Given the description of an element on the screen output the (x, y) to click on. 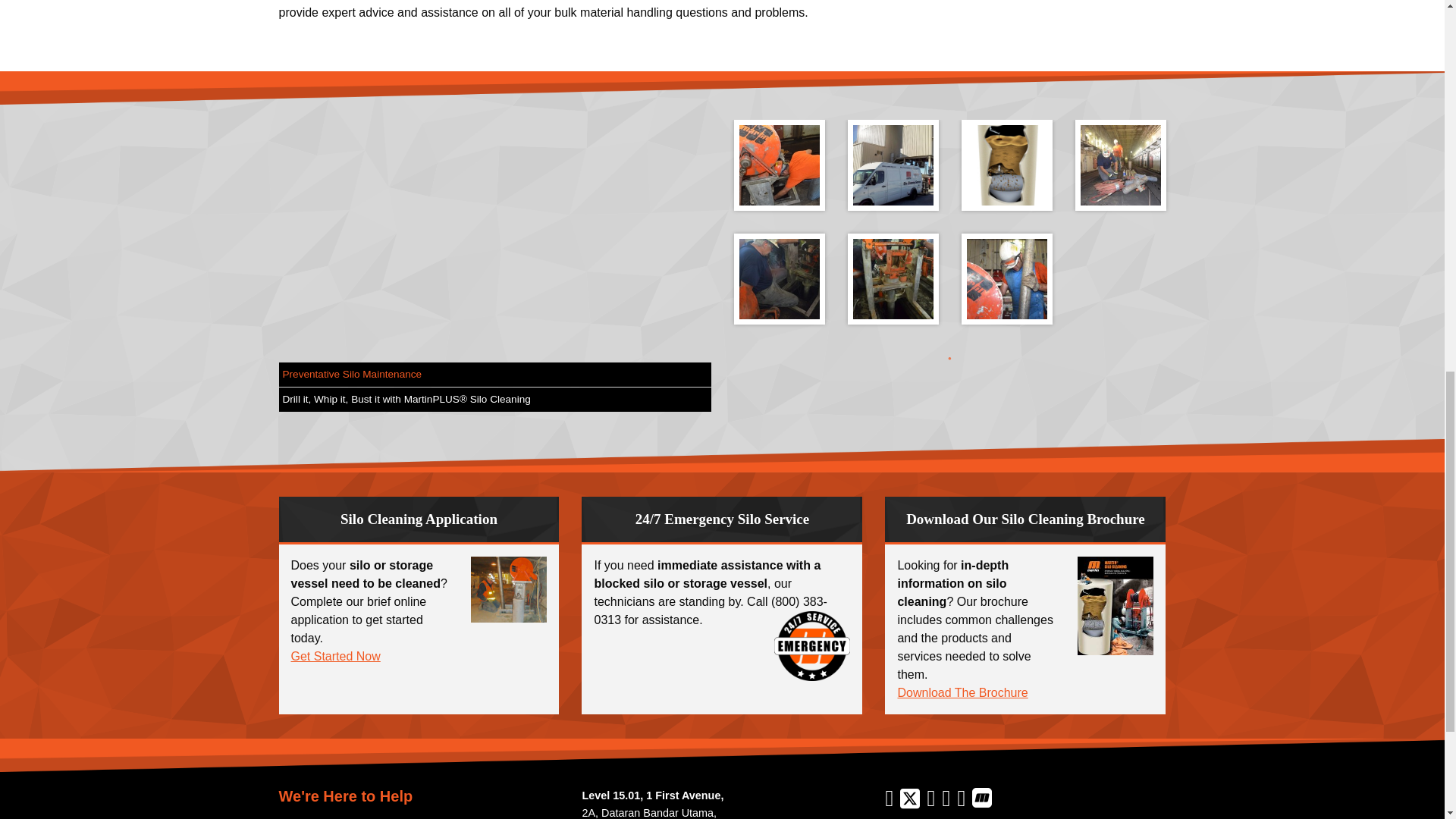
Martin Employee Performing Silo Cleaning (1006, 278)
Martin Service Team prepping area for silo cleaning (1120, 164)
Martin Silo Cleaning Service Van (893, 164)
Martin Service Team prepping area for silo cleaning (779, 278)
